Given the description of an element on the screen output the (x, y) to click on. 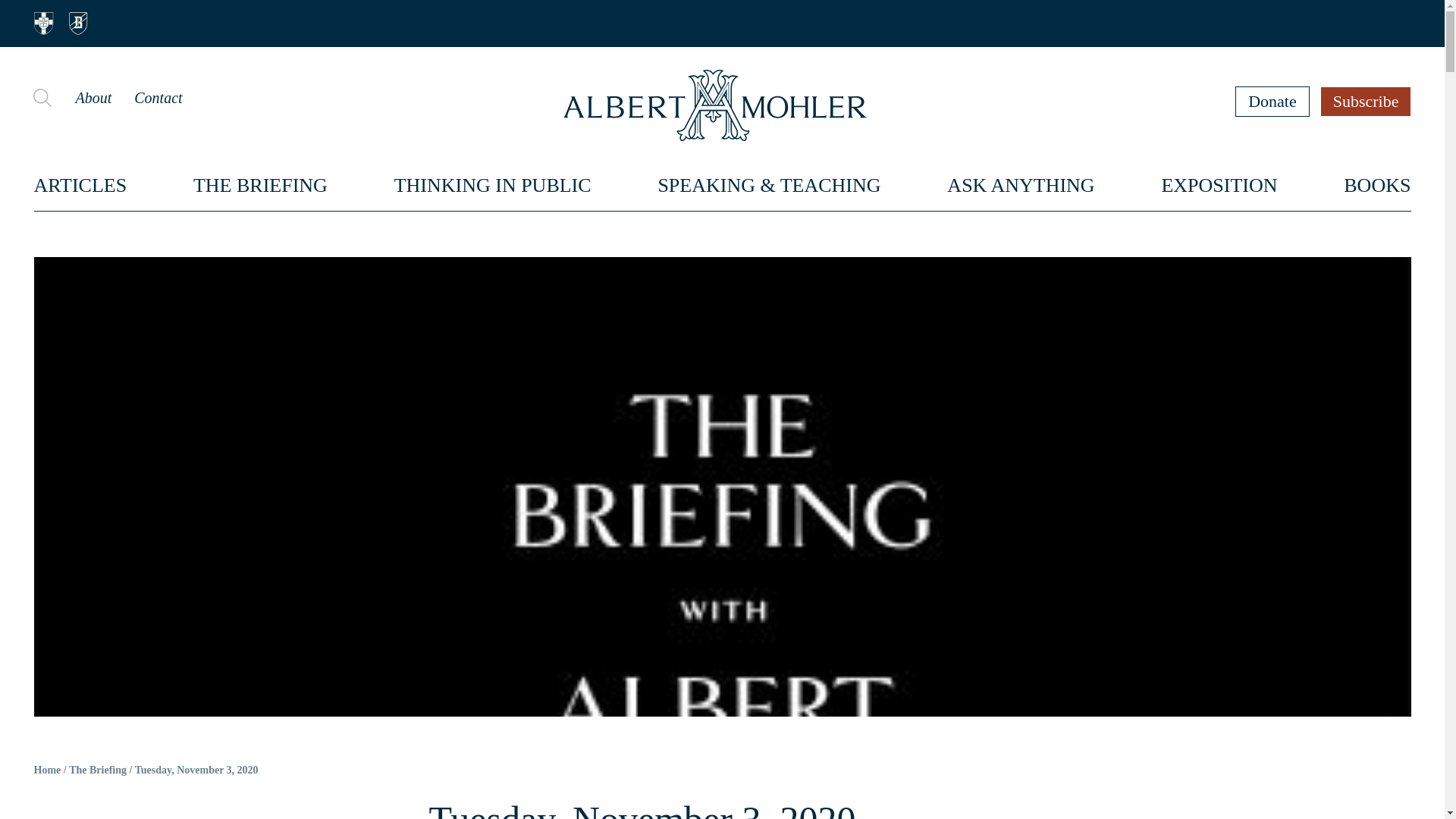
BOOKS (1376, 185)
Donate (1272, 101)
EXPOSITION (1218, 185)
ARTICLES (79, 185)
Contact (157, 97)
The Briefing (97, 770)
THE BRIEFING (260, 185)
ASK ANYTHING (1020, 185)
About (93, 97)
Subscribe (1366, 101)
